Given the description of an element on the screen output the (x, y) to click on. 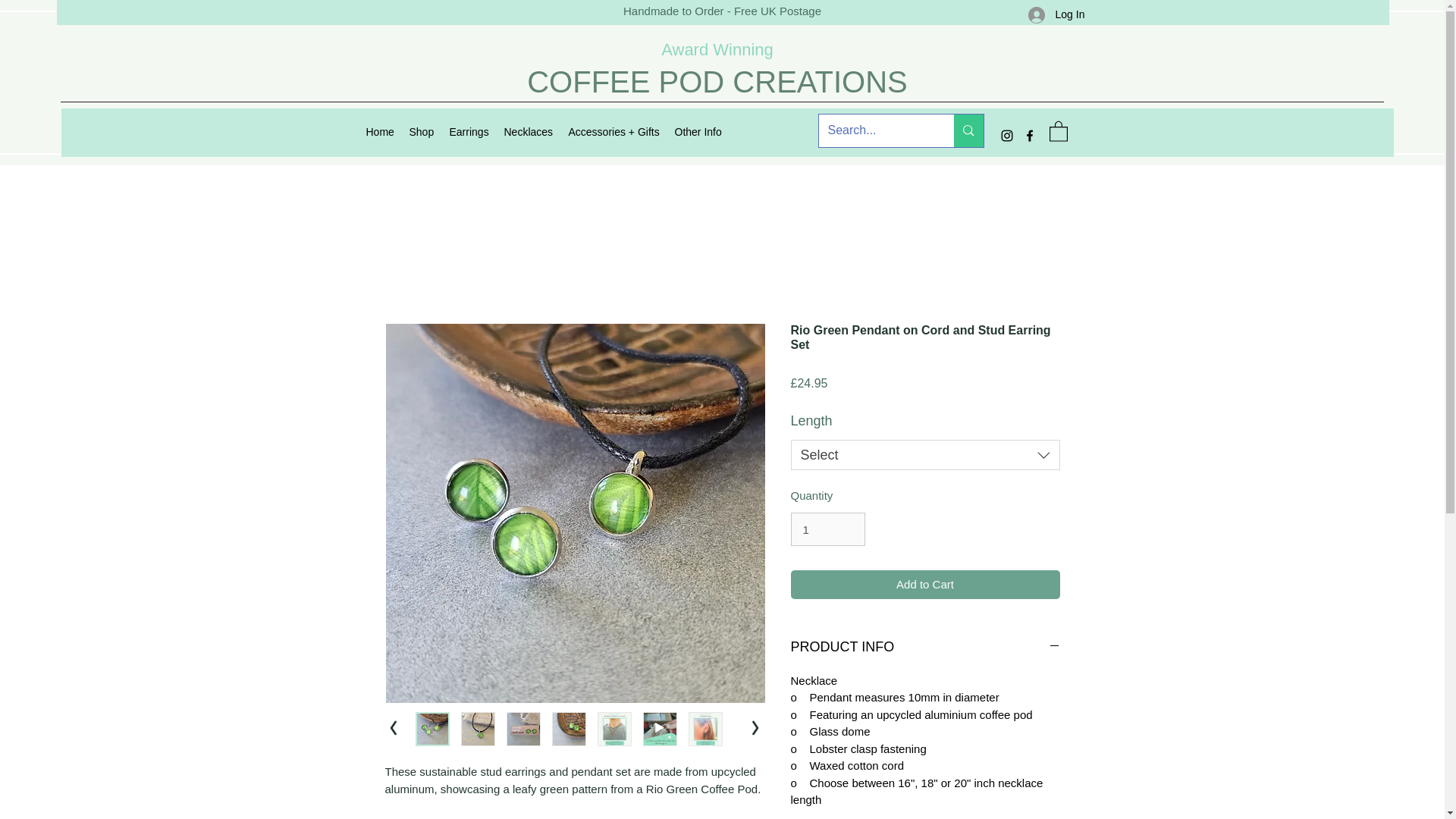
Add to Cart (924, 584)
Earrings (468, 131)
Necklaces (528, 131)
PRODUCT INFO (924, 647)
Home (379, 131)
1 (827, 529)
Log In (1051, 14)
Select (924, 454)
Shop (421, 131)
